Given the description of an element on the screen output the (x, y) to click on. 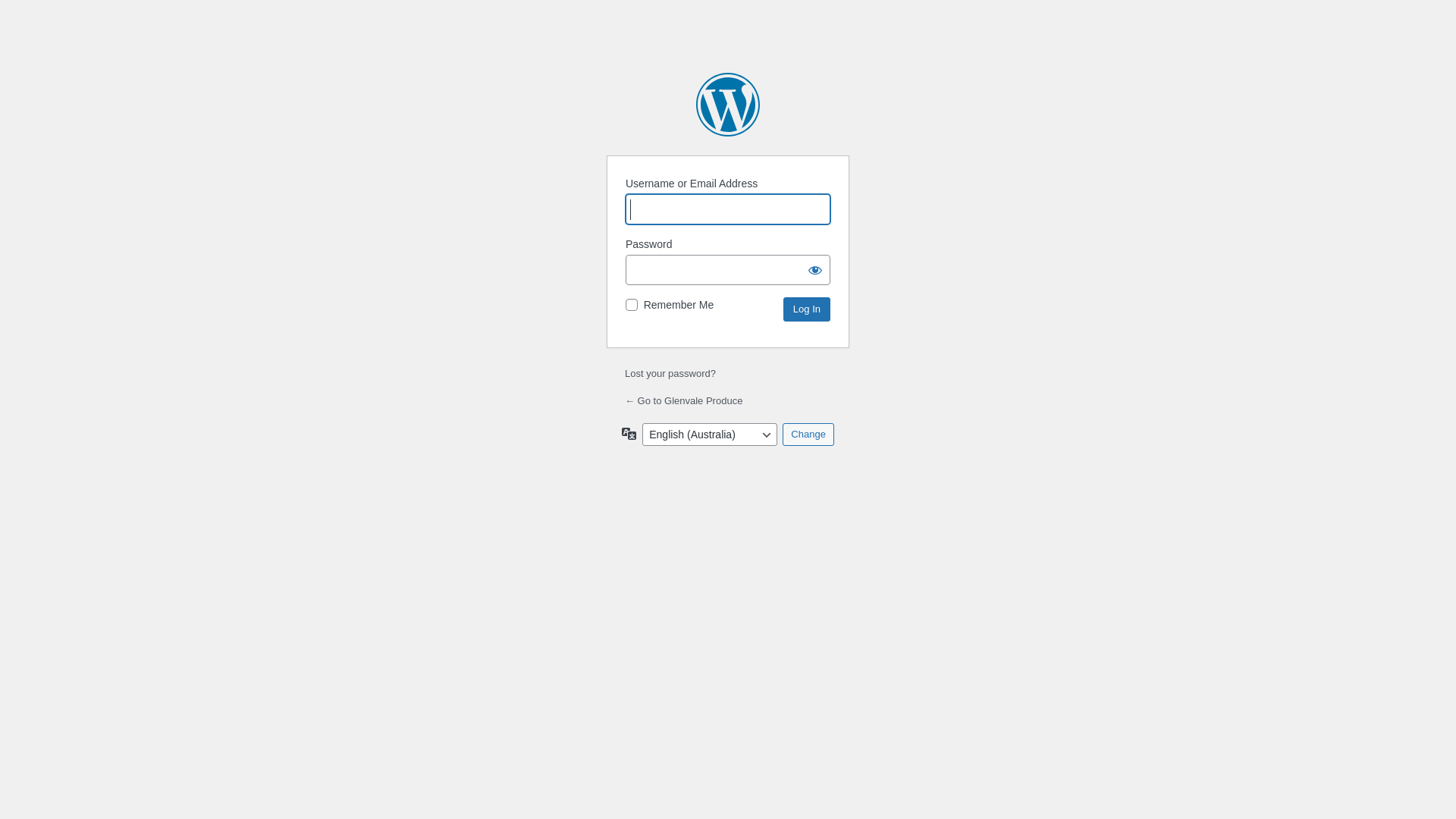
Lost your password? Element type: text (669, 373)
Powered by WordPress Element type: text (727, 104)
Log In Element type: text (806, 309)
Change Element type: text (808, 434)
